Given the description of an element on the screen output the (x, y) to click on. 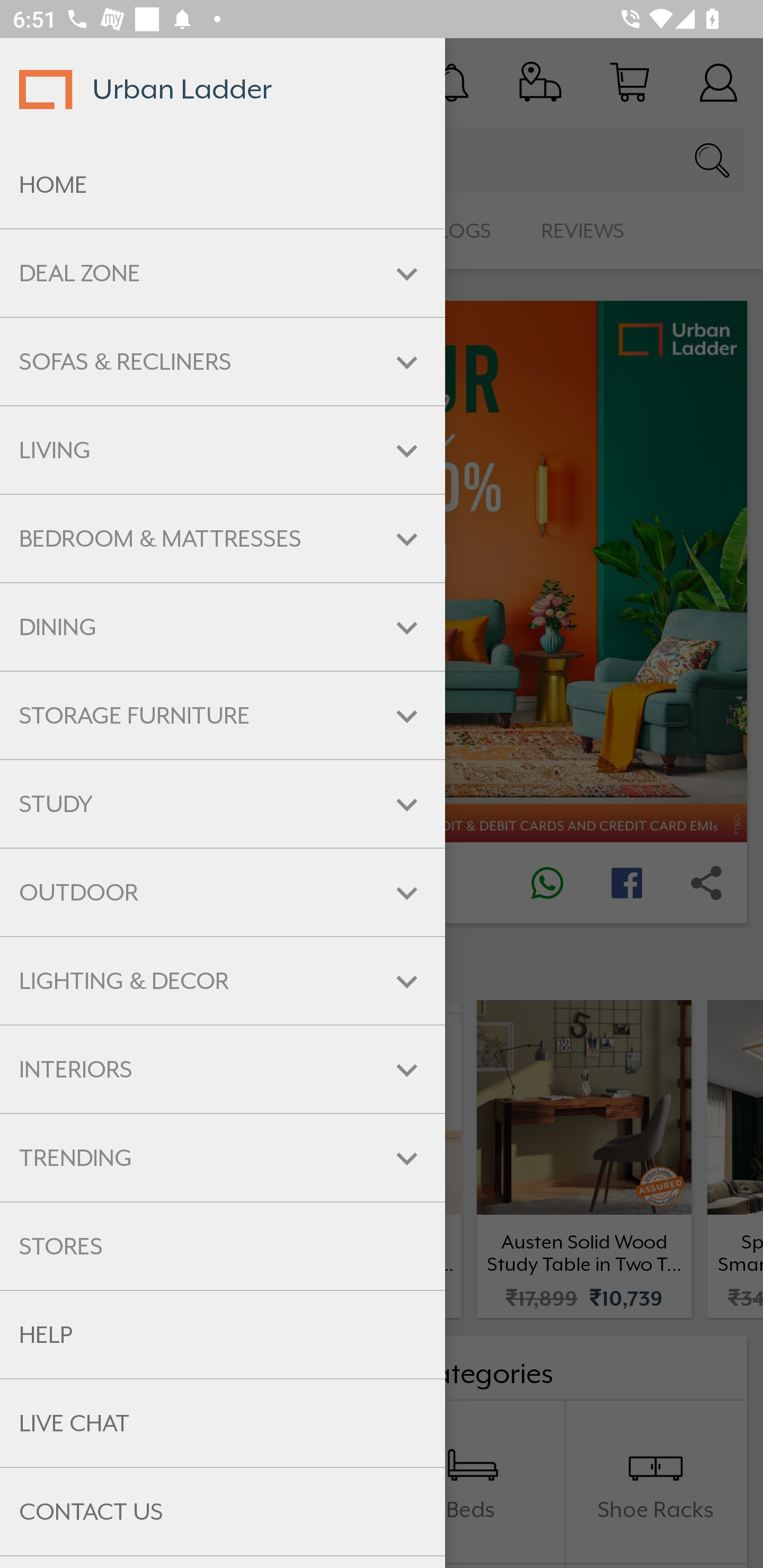
Urban Ladder (222, 89)
HOME (222, 184)
DEAL ZONE  (222, 273)
SOFAS & RECLINERS  (222, 361)
LIVING  (222, 450)
BEDROOM & MATTRESSES  (222, 538)
DINING  (222, 627)
STORAGE FURNITURE  (222, 715)
STUDY  (222, 803)
OUTDOOR  (222, 892)
LIGHTING & DECOR  (222, 980)
INTERIORS  (222, 1069)
TRENDING  (222, 1157)
STORES (222, 1246)
HELP (222, 1334)
LIVE CHAT (222, 1422)
CONTACT US (222, 1512)
